Given the description of an element on the screen output the (x, y) to click on. 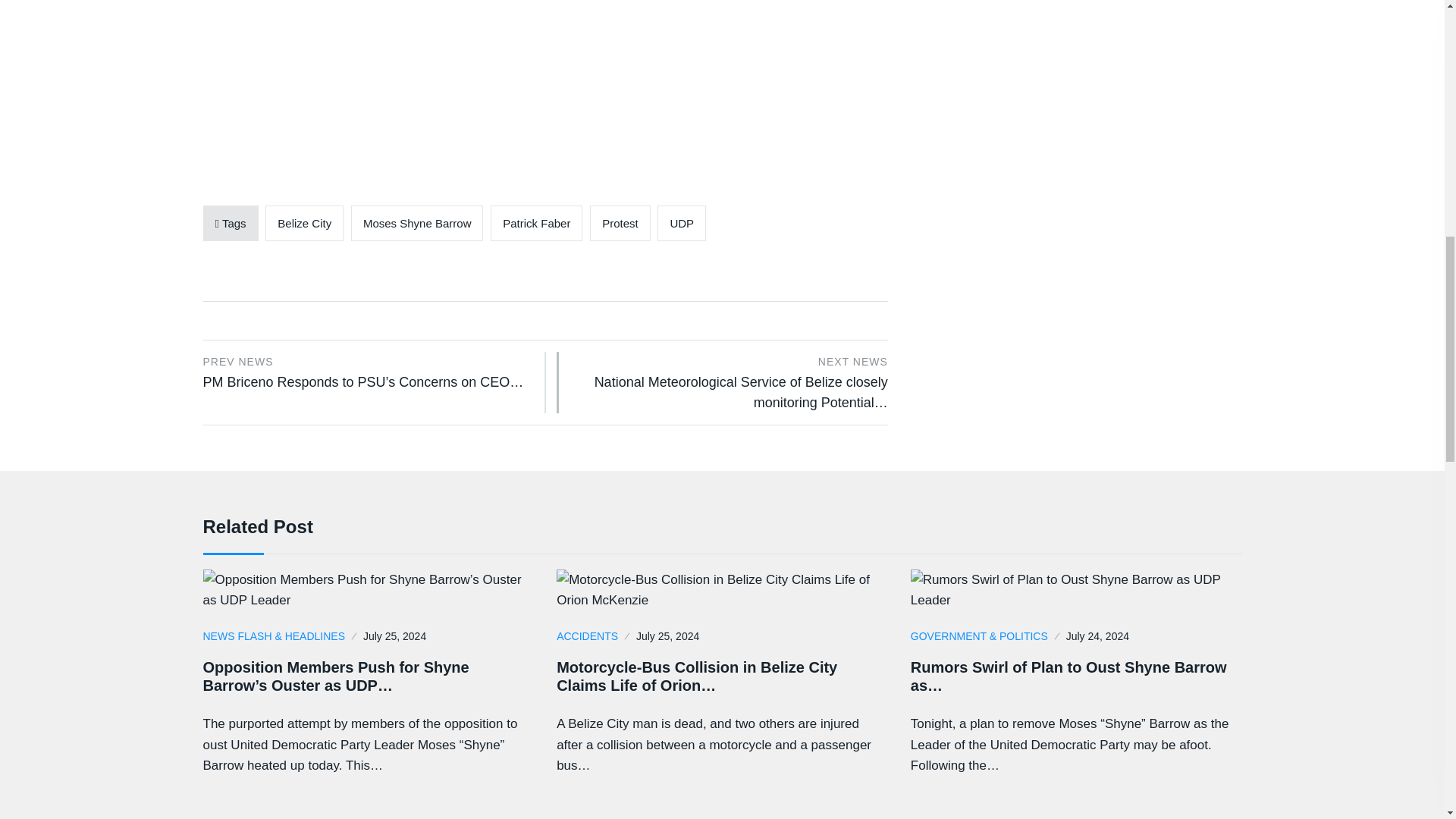
Former UDP Leader Protests In Front of UDP HQ (545, 84)
